Given the description of an element on the screen output the (x, y) to click on. 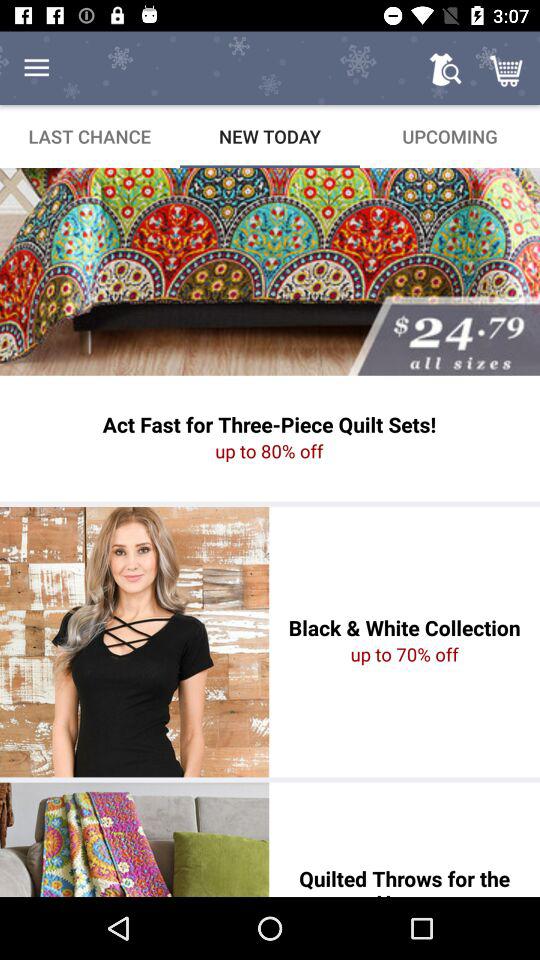
turn off the icon above the last chance item (36, 68)
